Given the description of an element on the screen output the (x, y) to click on. 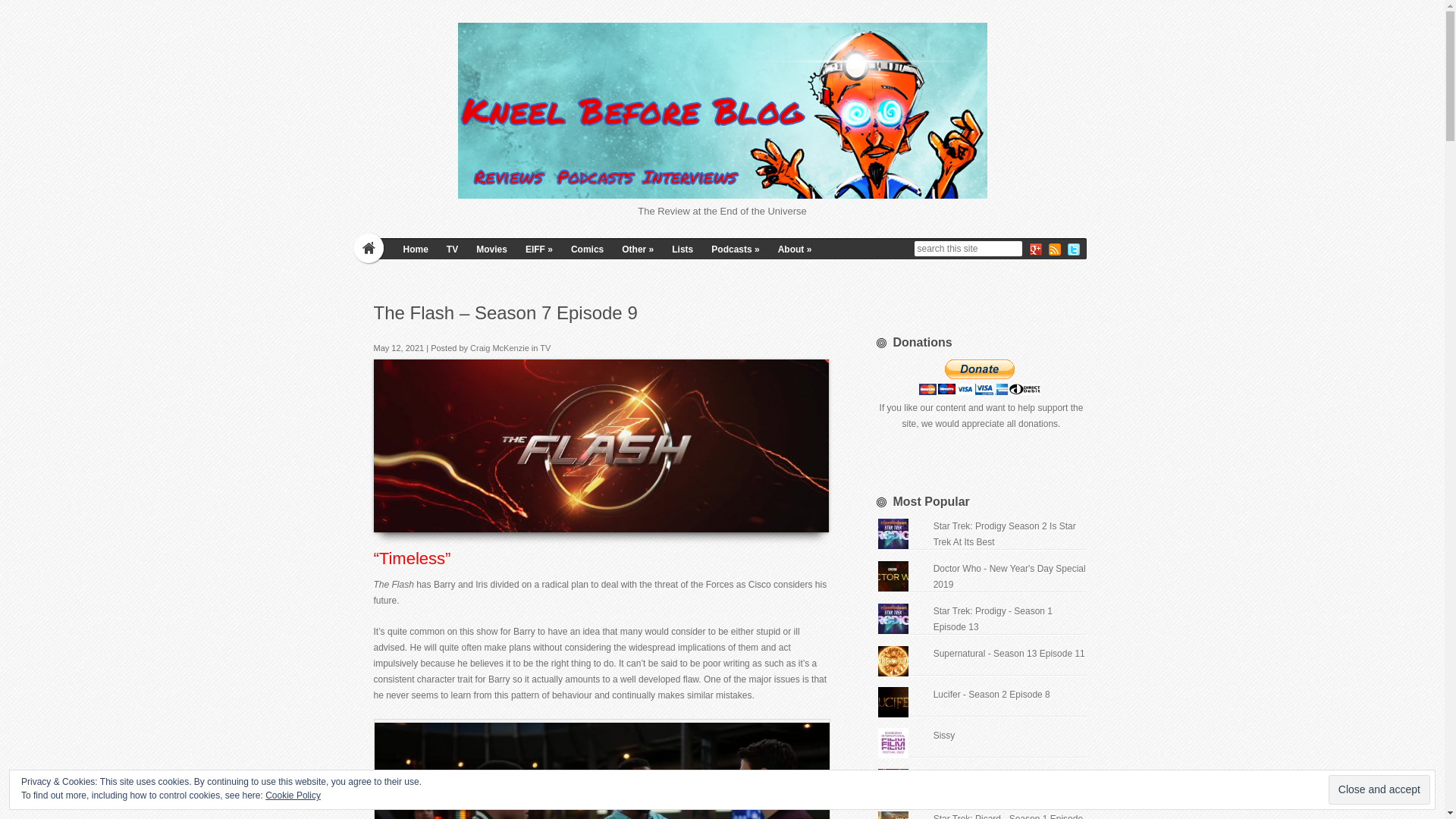
Movies (491, 249)
Kneel Before Blog (722, 110)
Star Trek: Prodigy - Season 1 Episode 13 (992, 619)
Comics (587, 249)
Posts by Craig McKenzie (499, 347)
Home (415, 249)
Doctor Who - New Year's Day Special 2019 (1009, 576)
Close and accept (1378, 789)
Star Trek: Prodigy Season 2 Is Star Trek At Its Best (1004, 533)
Lists (682, 249)
